Given the description of an element on the screen output the (x, y) to click on. 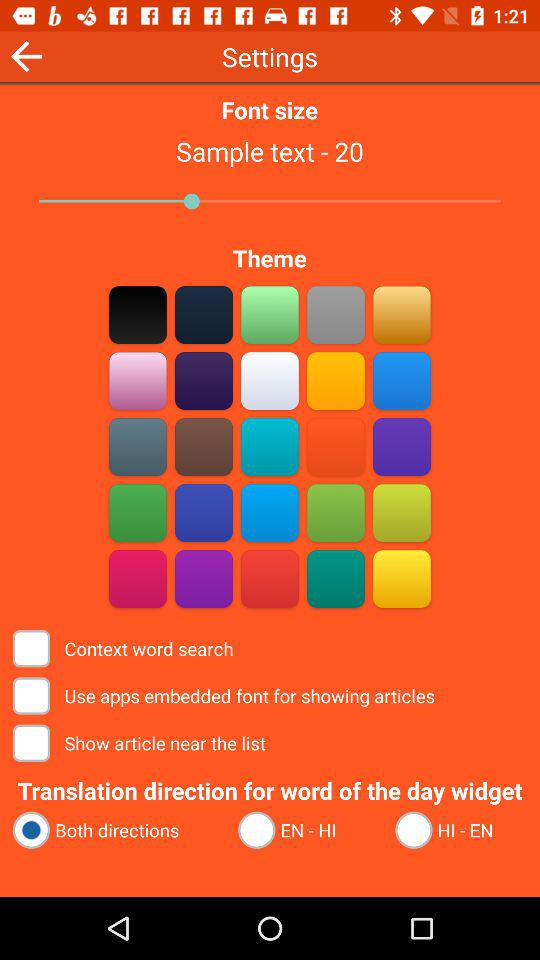
select specific color (335, 578)
